Given the description of an element on the screen output the (x, y) to click on. 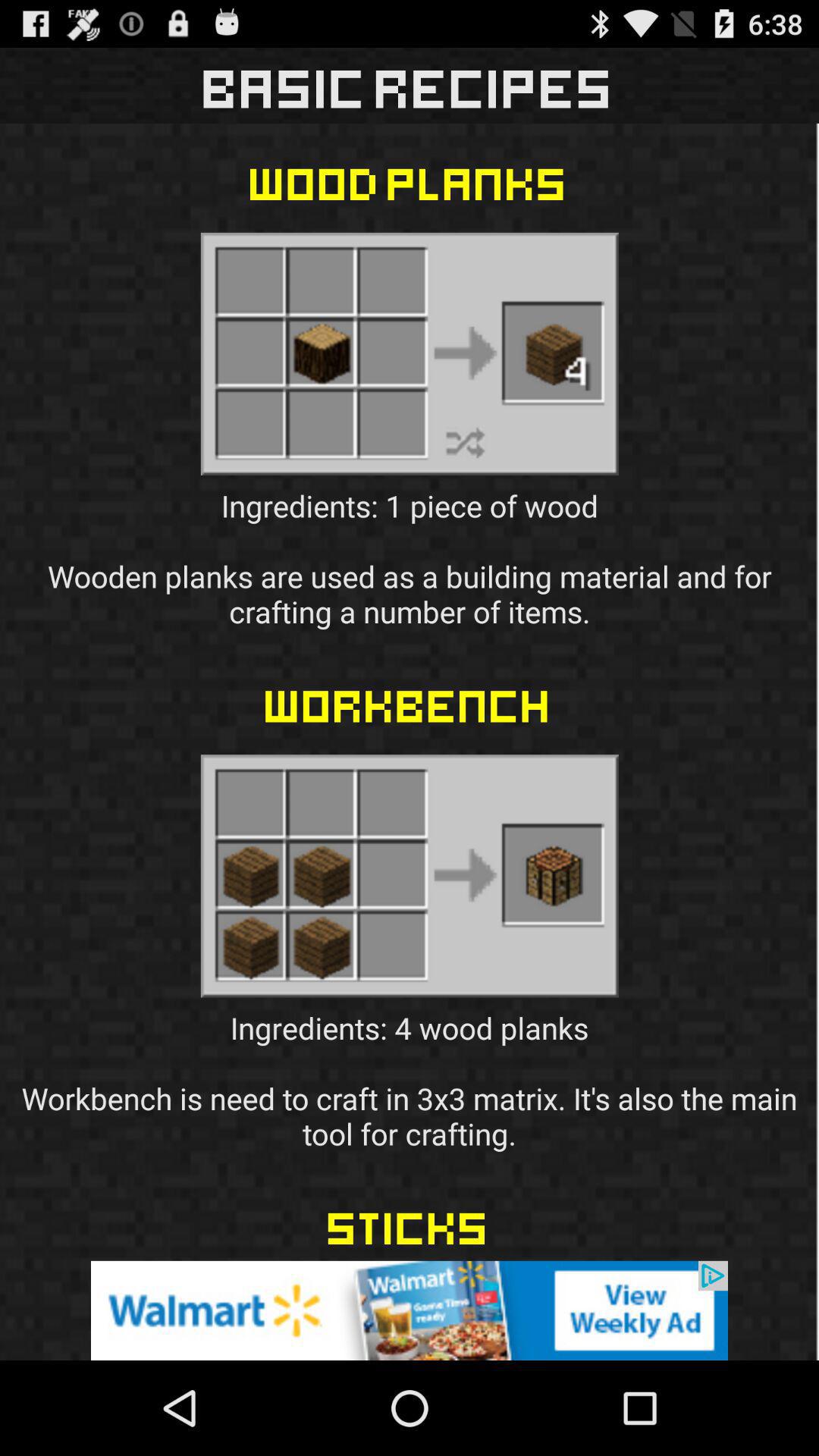
view advertisement (409, 1310)
